Given the description of an element on the screen output the (x, y) to click on. 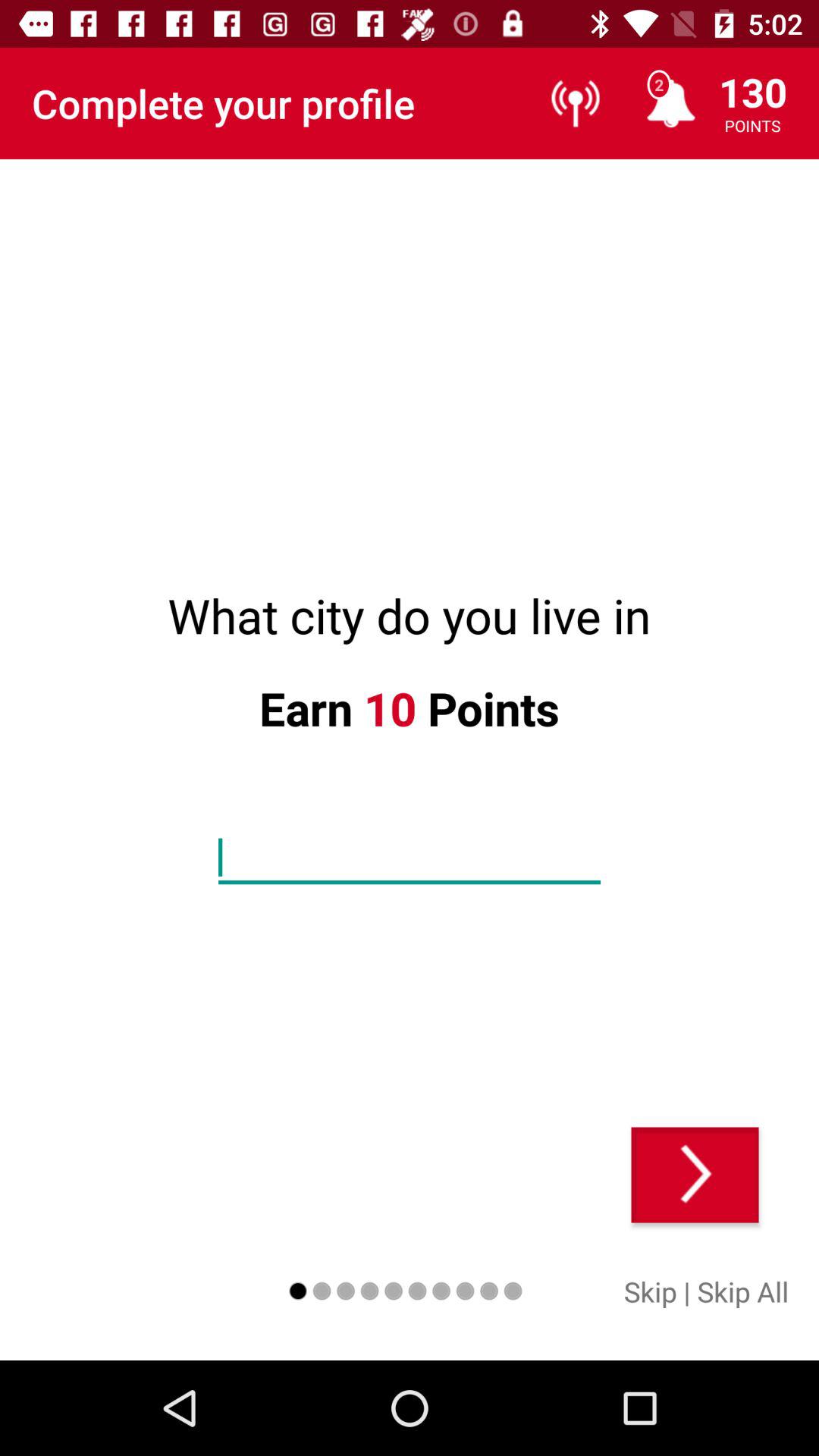
click skip all item (742, 1291)
